Given the description of an element on the screen output the (x, y) to click on. 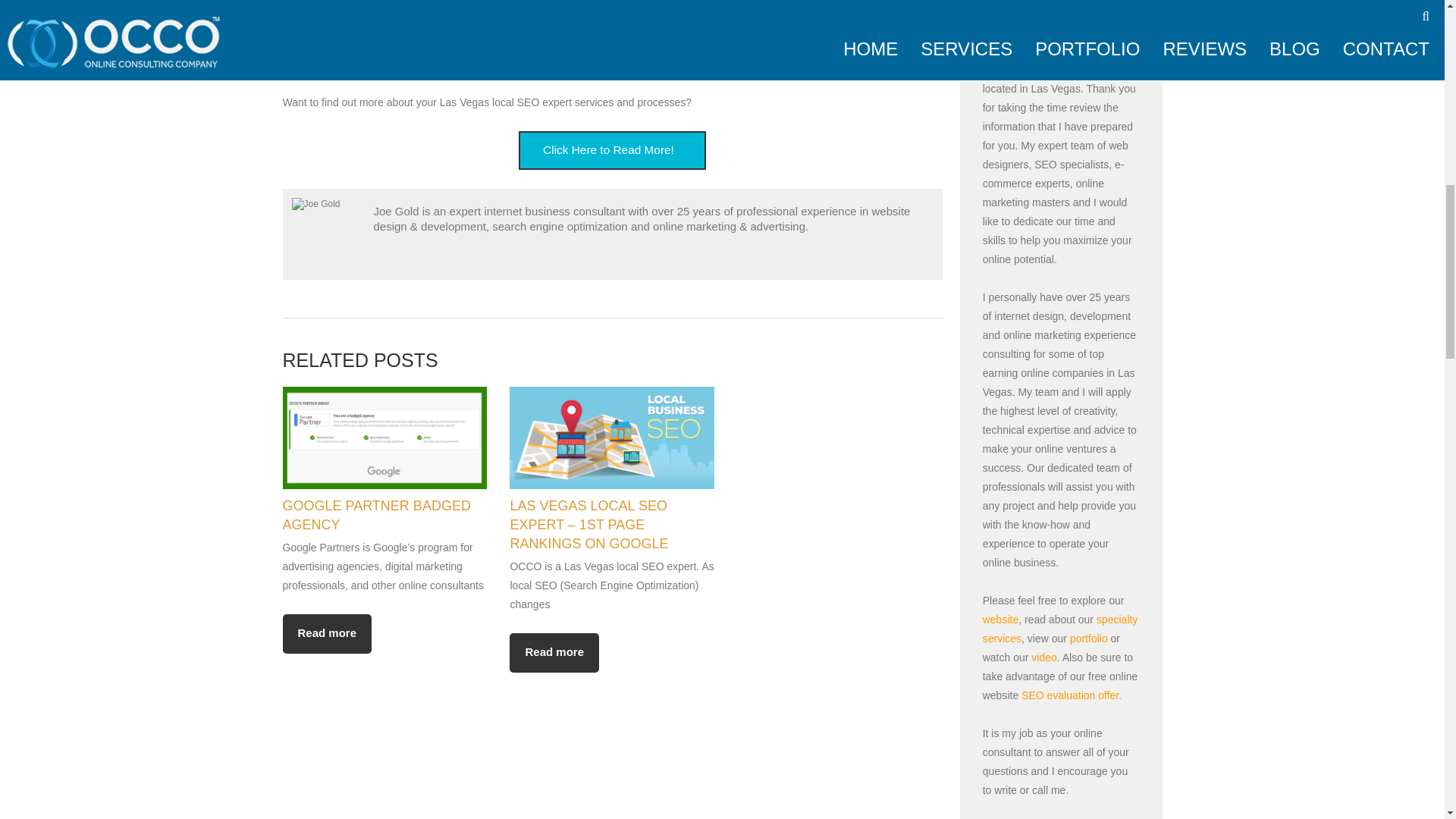
portfolio (1089, 638)
specialty services (1060, 628)
SEO evaluation offer. (1071, 695)
Read more (326, 633)
GOOGLE PARTNER BADGED AGENCY (376, 514)
website (999, 619)
video (1043, 657)
Read more (553, 652)
Click Here to Read More! (612, 150)
